Given the description of an element on the screen output the (x, y) to click on. 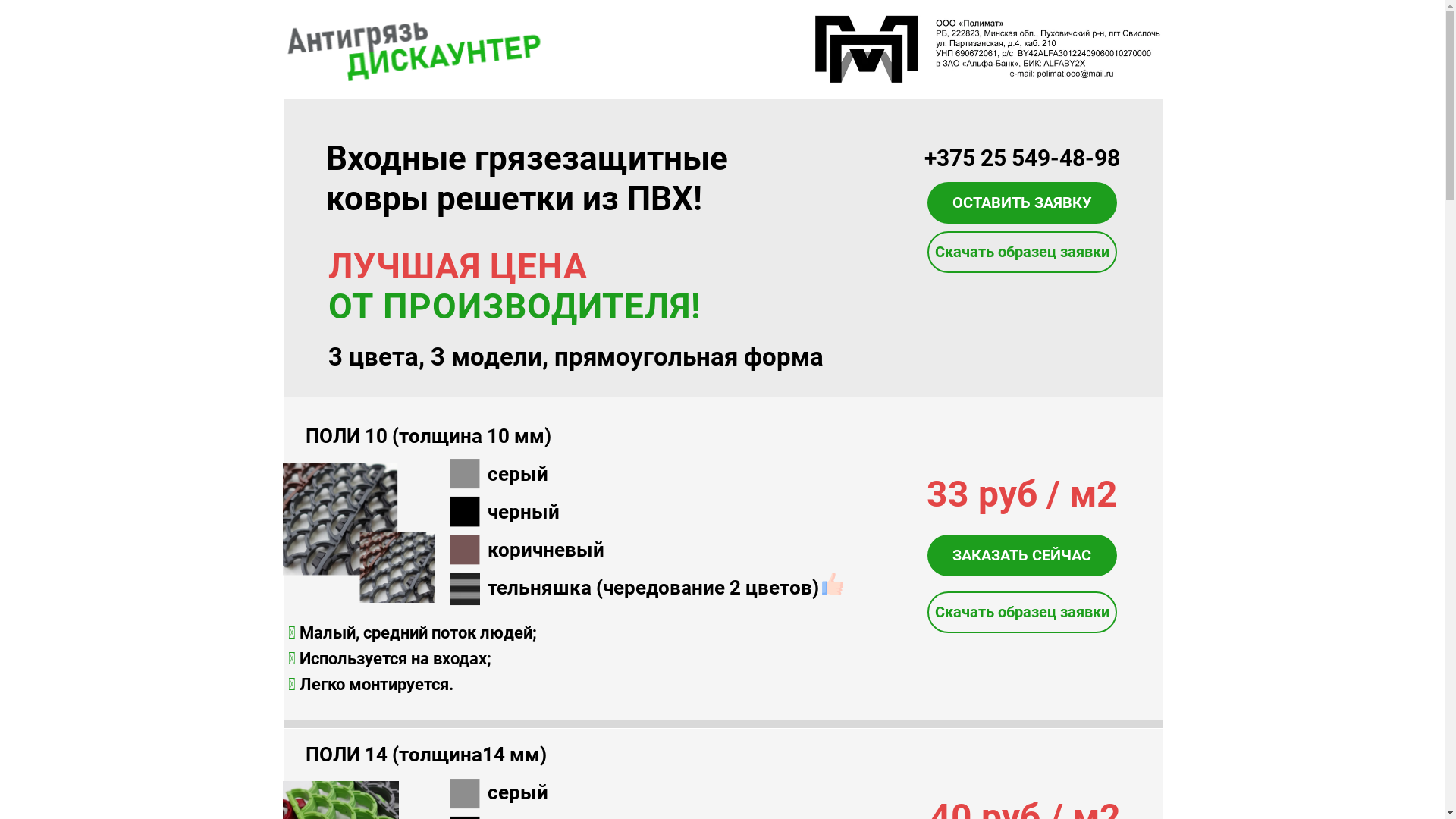
+375 25 549-48-98 Element type: text (1021, 157)
